Given the description of an element on the screen output the (x, y) to click on. 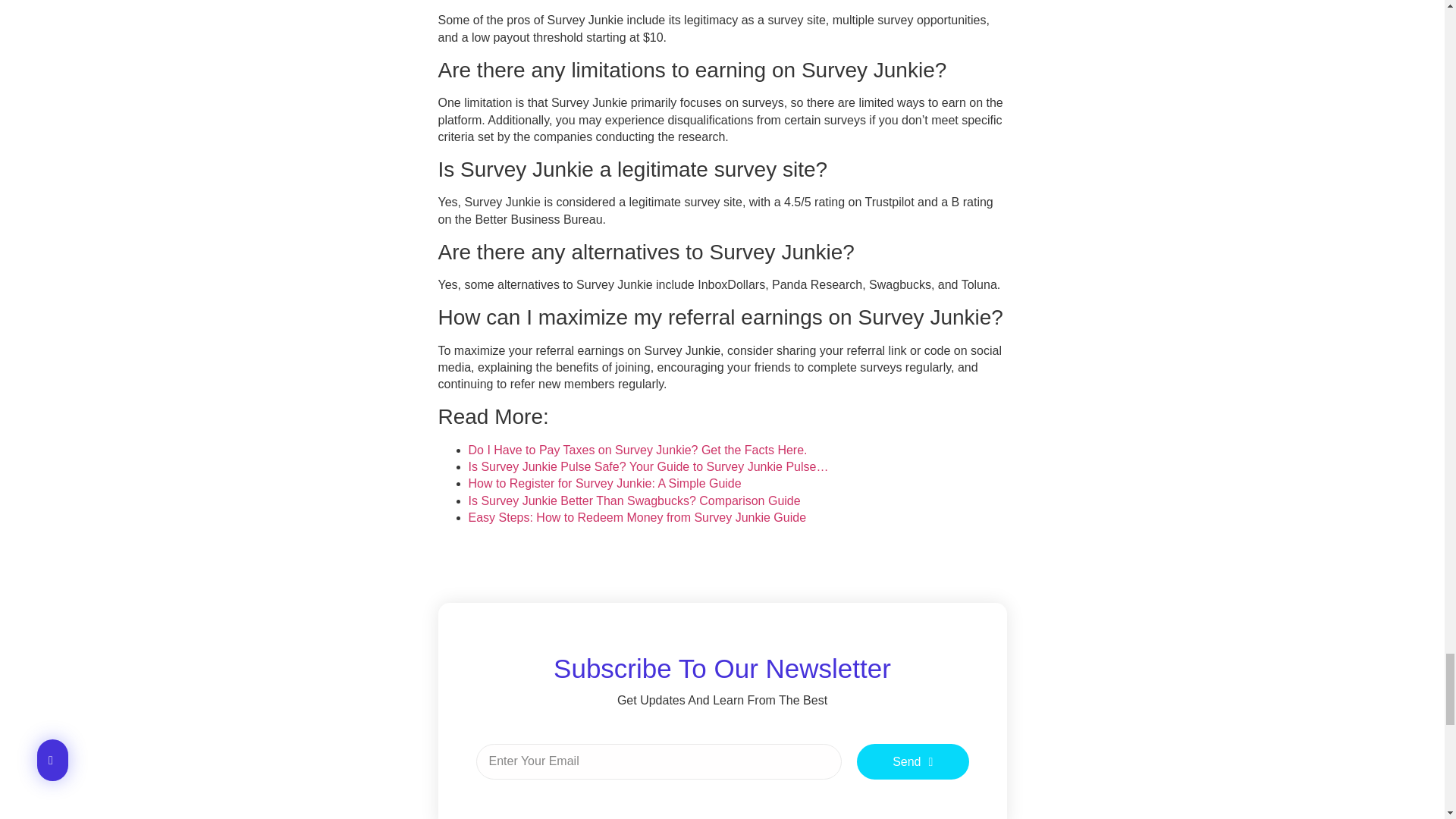
Easy Steps: How to Redeem Money from Survey Junkie Guide (637, 517)
Send (913, 761)
How to Register for Survey Junkie: A Simple Guide (604, 482)
Do I Have to Pay Taxes on Survey Junkie? Get the Facts Here. (638, 449)
Is Survey Junkie Better Than Swagbucks? Comparison Guide (634, 500)
